Given the description of an element on the screen output the (x, y) to click on. 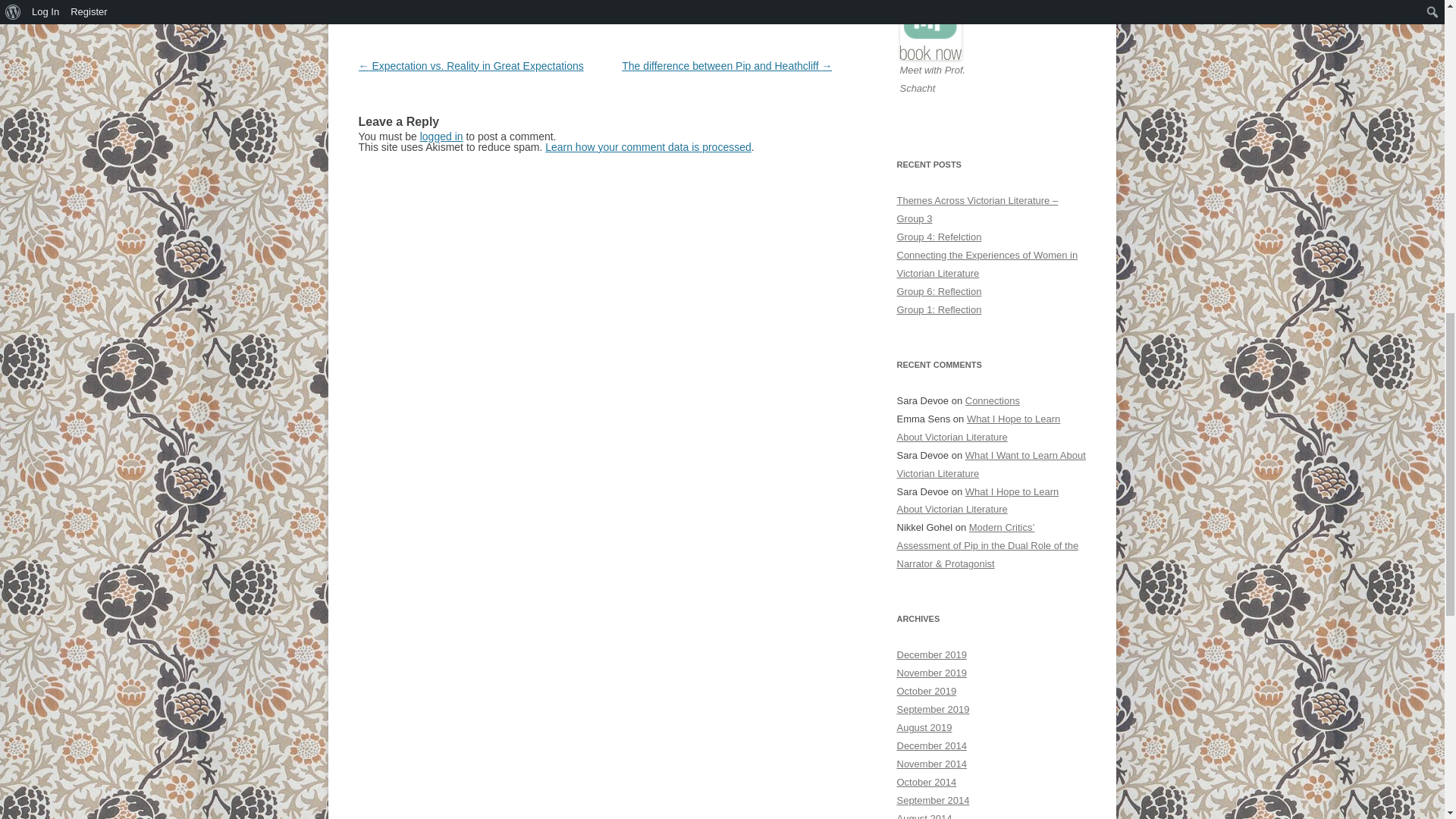
Group 4: Refelction (938, 236)
logged in (441, 136)
Learn how your comment data is processed (647, 146)
